Given the description of an element on the screen output the (x, y) to click on. 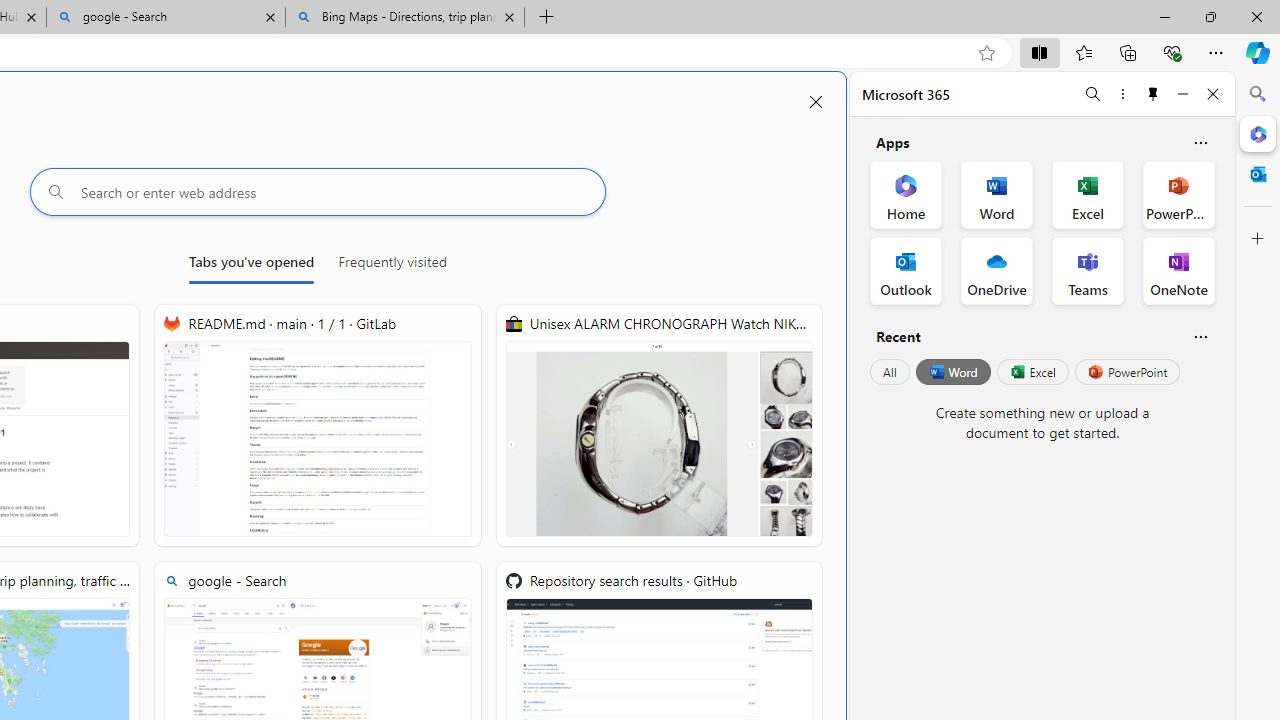
Teams Office App (1087, 270)
OneDrive Office App (996, 270)
Excel (1031, 372)
All (890, 372)
